Given the description of an element on the screen output the (x, y) to click on. 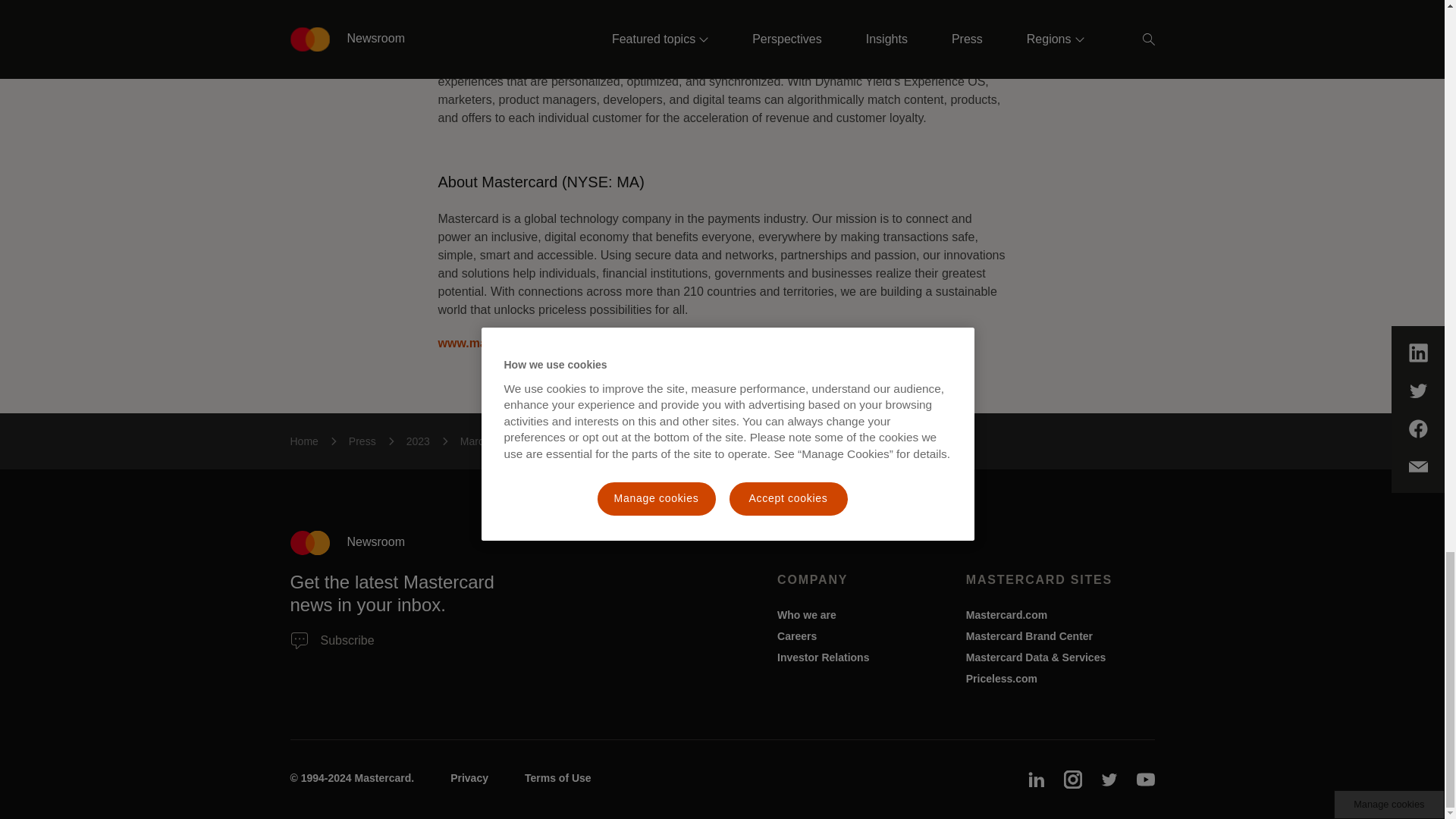
YouTube (1144, 779)
Instagram (1071, 779)
Twitter (1108, 779)
LinkedIn (1035, 779)
